Given the description of an element on the screen output the (x, y) to click on. 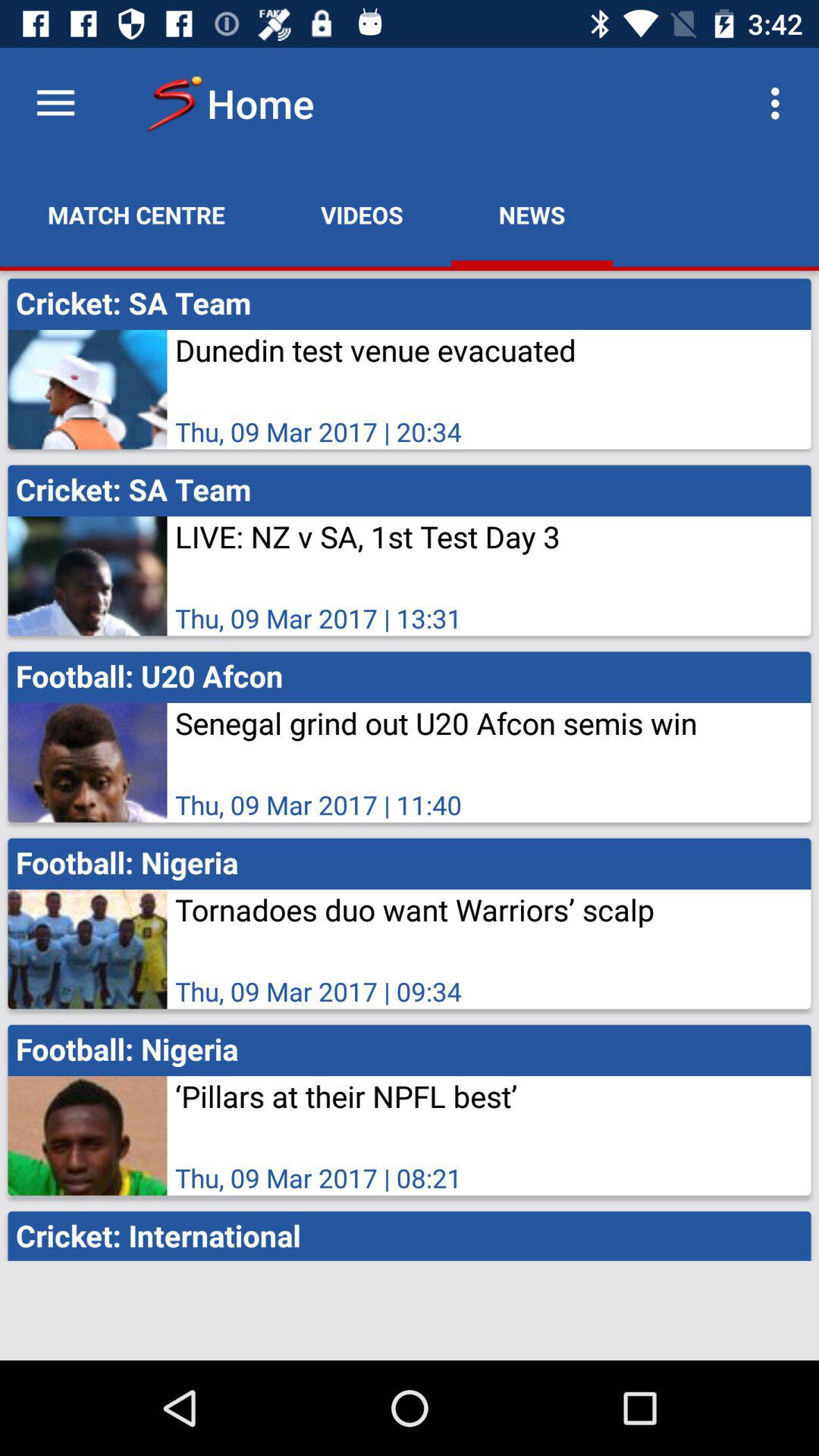
turn off the app above match centre item (55, 103)
